Given the description of an element on the screen output the (x, y) to click on. 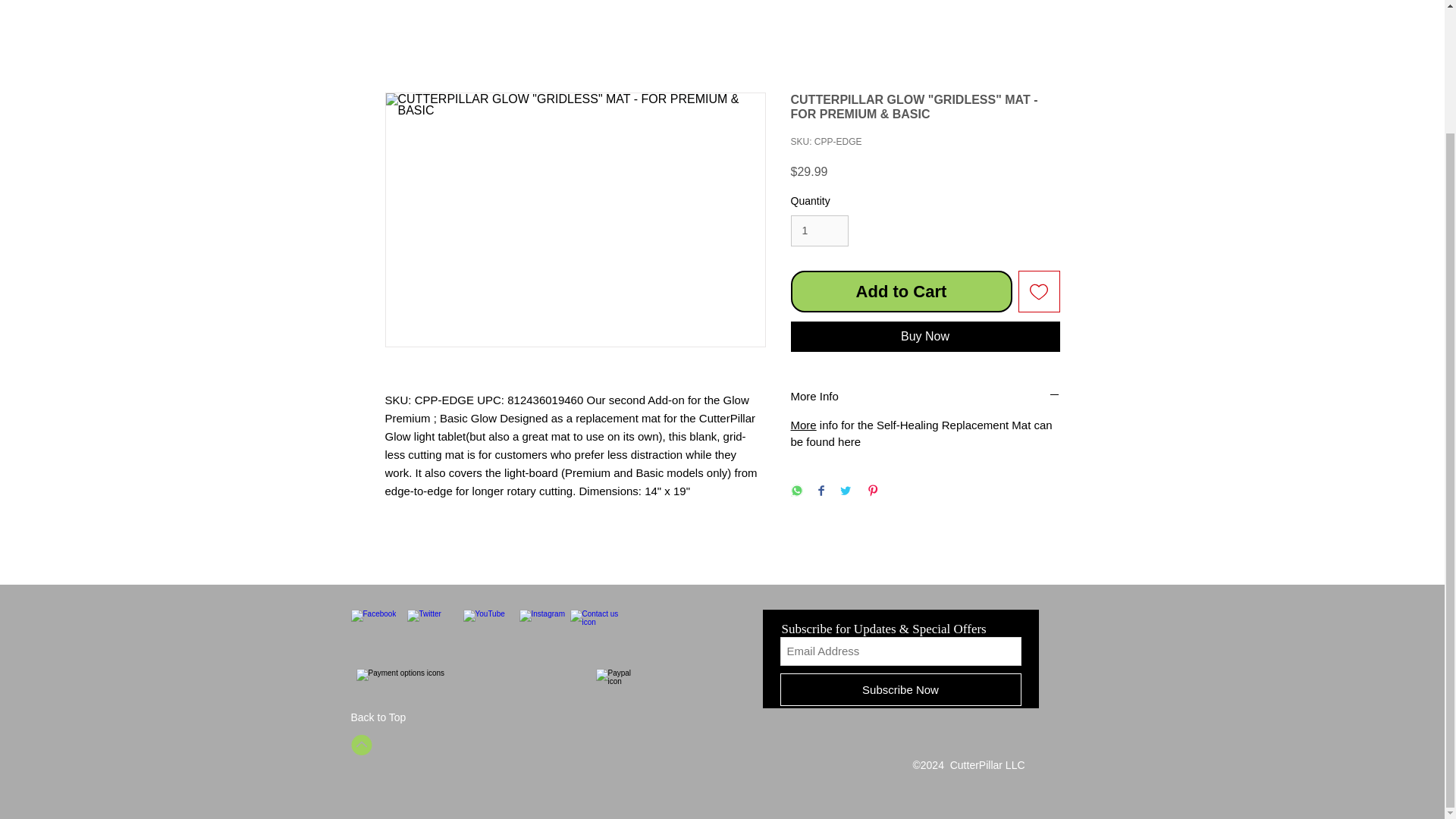
Back to Top (378, 717)
Add to Cart (900, 291)
More Info (924, 396)
More (802, 424)
Subscribe Now (899, 689)
credit cards.jpg (472, 687)
1 (818, 230)
Buy Now (924, 336)
